Given the description of an element on the screen output the (x, y) to click on. 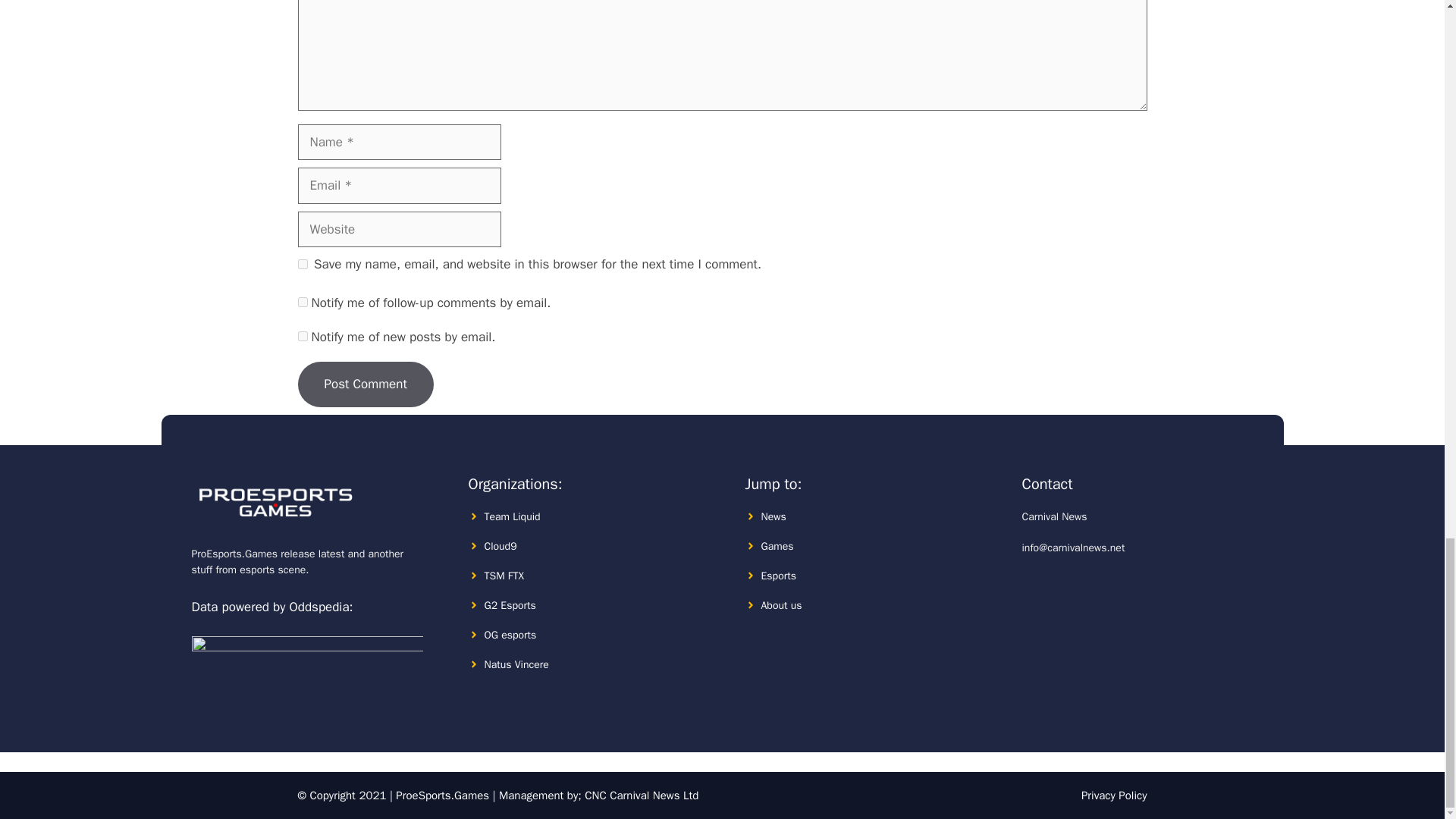
Post Comment (364, 384)
Team Liquid (511, 516)
Post Comment (364, 384)
subscribe (302, 336)
subscribe (302, 302)
yes (302, 264)
